Given the description of an element on the screen output the (x, y) to click on. 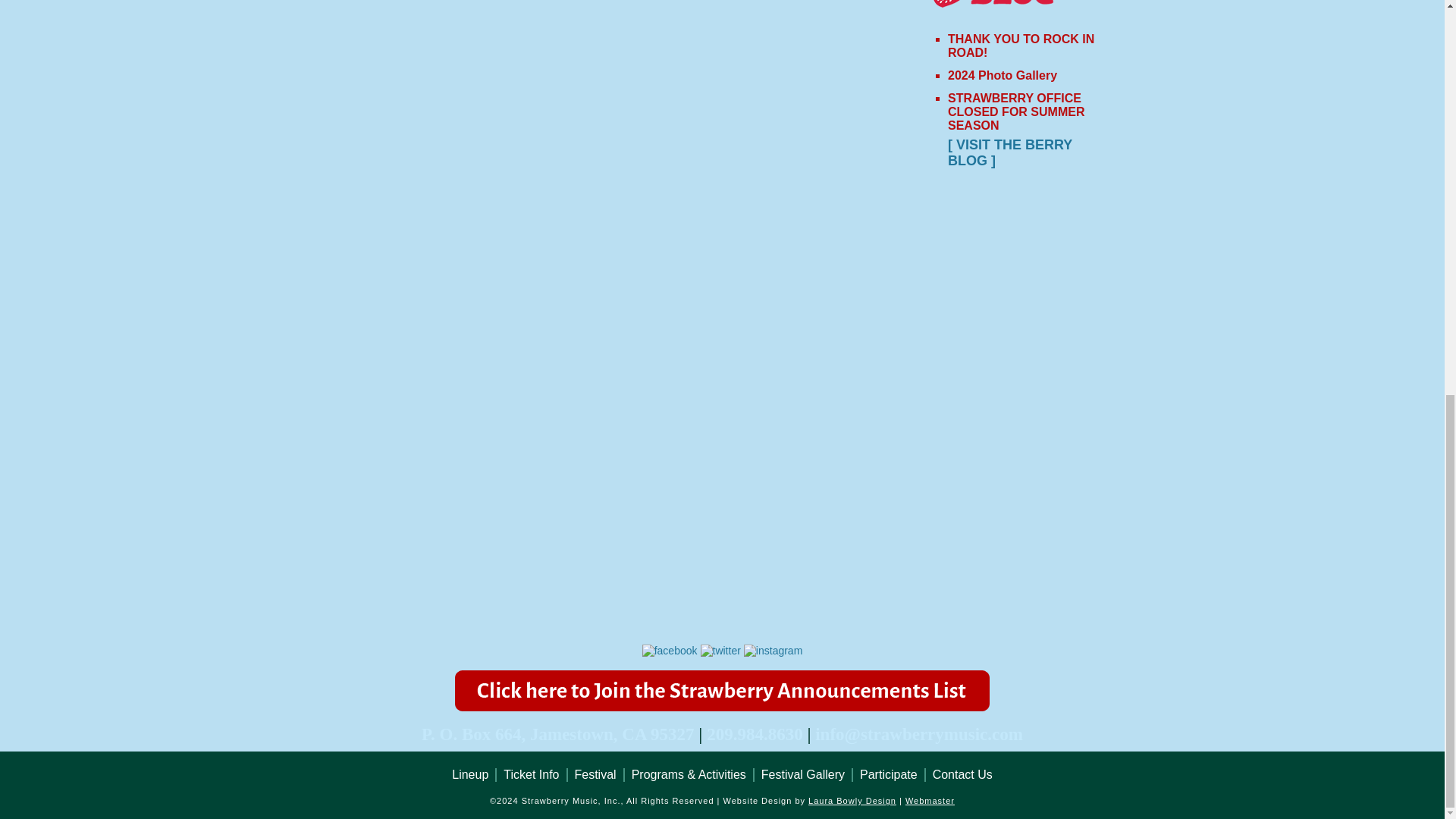
2024 Photo Gallery (1002, 74)
THANK YOU TO ROCK IN ROAD! (1020, 45)
instagram (772, 650)
twitter (720, 650)
instagram (773, 650)
twitter (720, 650)
facebook (669, 650)
facebook (669, 650)
STRAWBERRY OFFICE CLOSED FOR SUMMER SEASON (1015, 111)
